Given the description of an element on the screen output the (x, y) to click on. 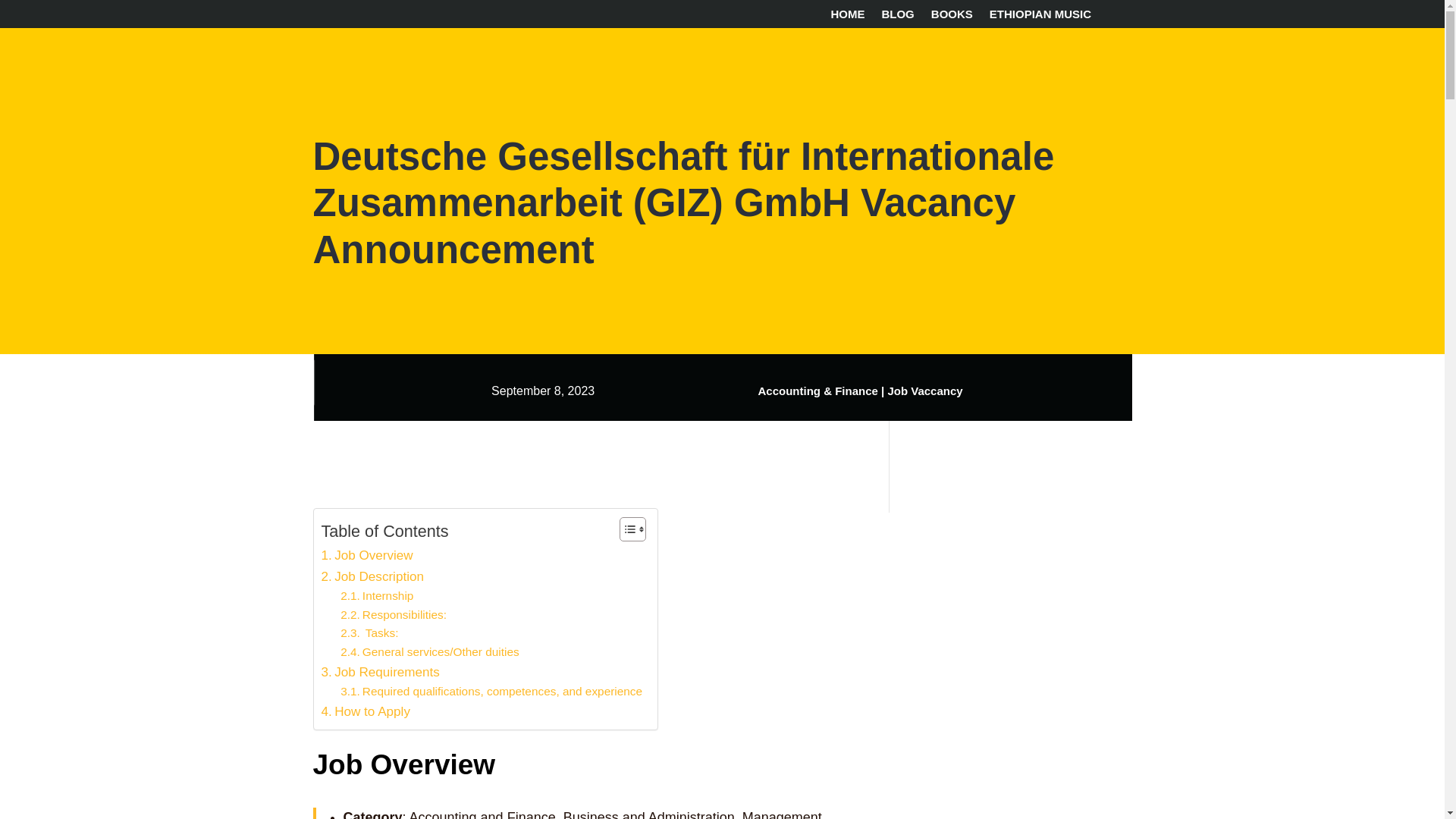
How to Apply (365, 711)
 Tasks: (368, 633)
How to Apply (365, 711)
Job Overview (367, 555)
Job Vaccancy (924, 390)
Job Requirements (380, 671)
ETHIOPIAN MUSIC (1040, 17)
HOME (846, 17)
Responsibilities: (393, 615)
Responsibilities: (393, 615)
BOOKS (951, 17)
Required qualifications, competences, and experience (491, 691)
Internship (376, 596)
Job Overview (367, 555)
